Given the description of an element on the screen output the (x, y) to click on. 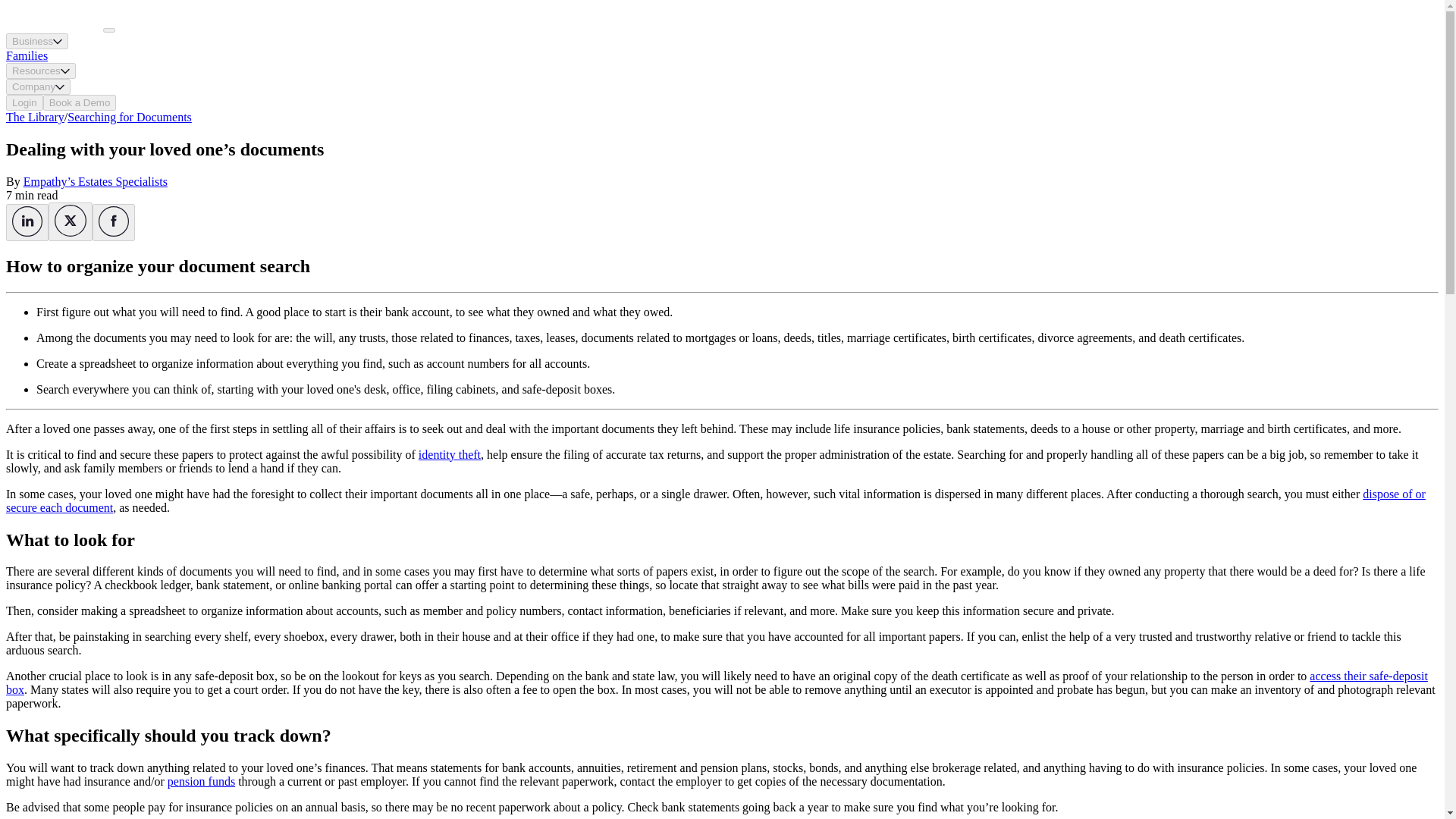
access their safe-deposit box (716, 682)
Families (26, 55)
The Library (34, 116)
Login (24, 102)
Company (37, 86)
Resources (40, 70)
dispose of or secure each document (715, 500)
identity theft (449, 454)
Login (24, 101)
Business (36, 41)
